Given the description of an element on the screen output the (x, y) to click on. 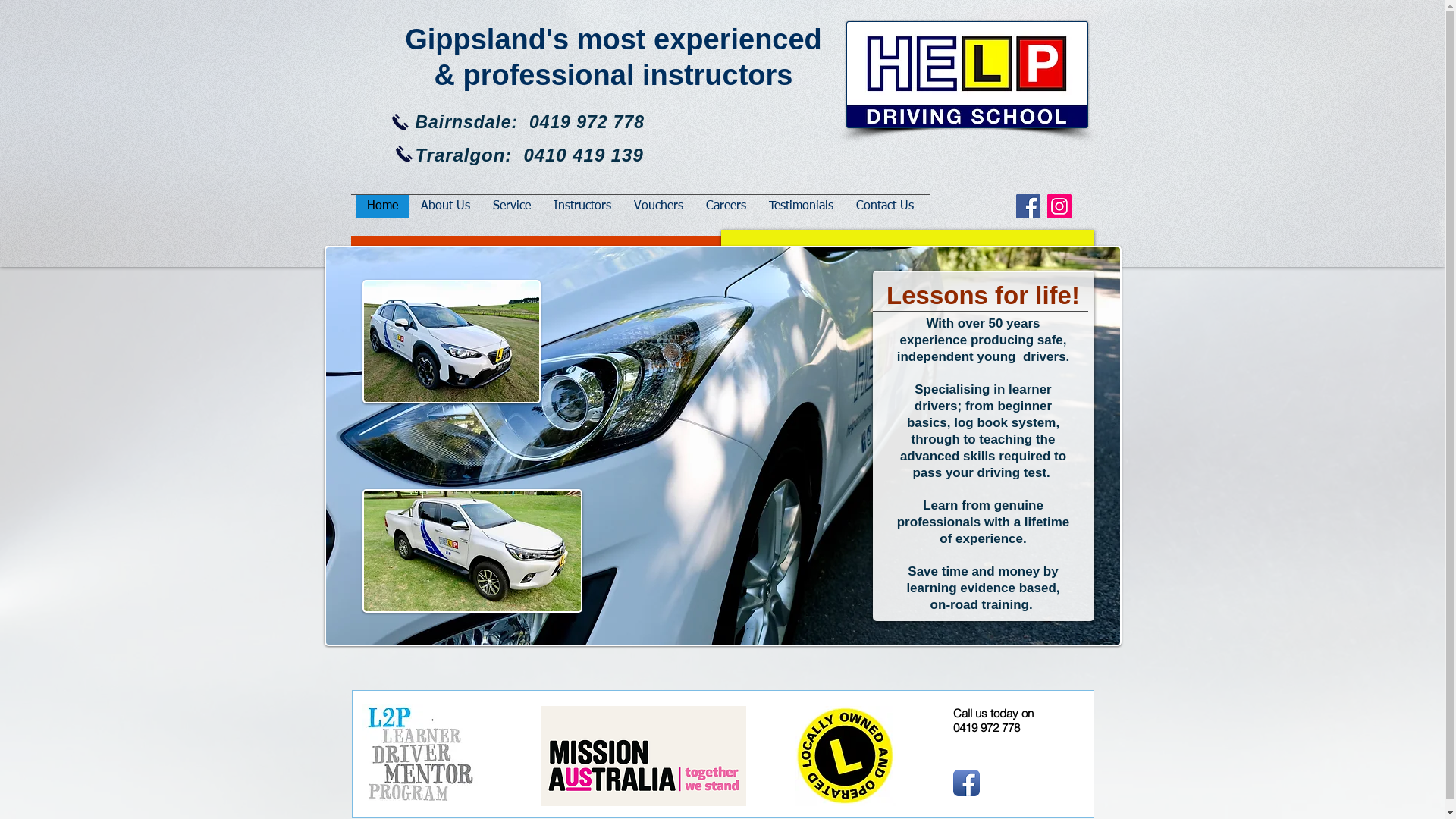
Unknown.jpg Element type: hover (420, 753)
Contact Us Element type: text (884, 205)
Home Element type: text (381, 205)
Instructors Element type: text (581, 205)
About Us Element type: text (445, 205)
291398703_462625109197031_936736946740237617_n.jpg Element type: hover (472, 550)
Testimonials Element type: text (800, 205)
Careers Element type: text (725, 205)
Vouchers Element type: text (657, 205)
HELP logo.jpg Element type: hover (967, 74)
Service Element type: text (510, 205)
Locally-owned--operated-badge-222x222.jpg Element type: hover (844, 756)
